Given the description of an element on the screen output the (x, y) to click on. 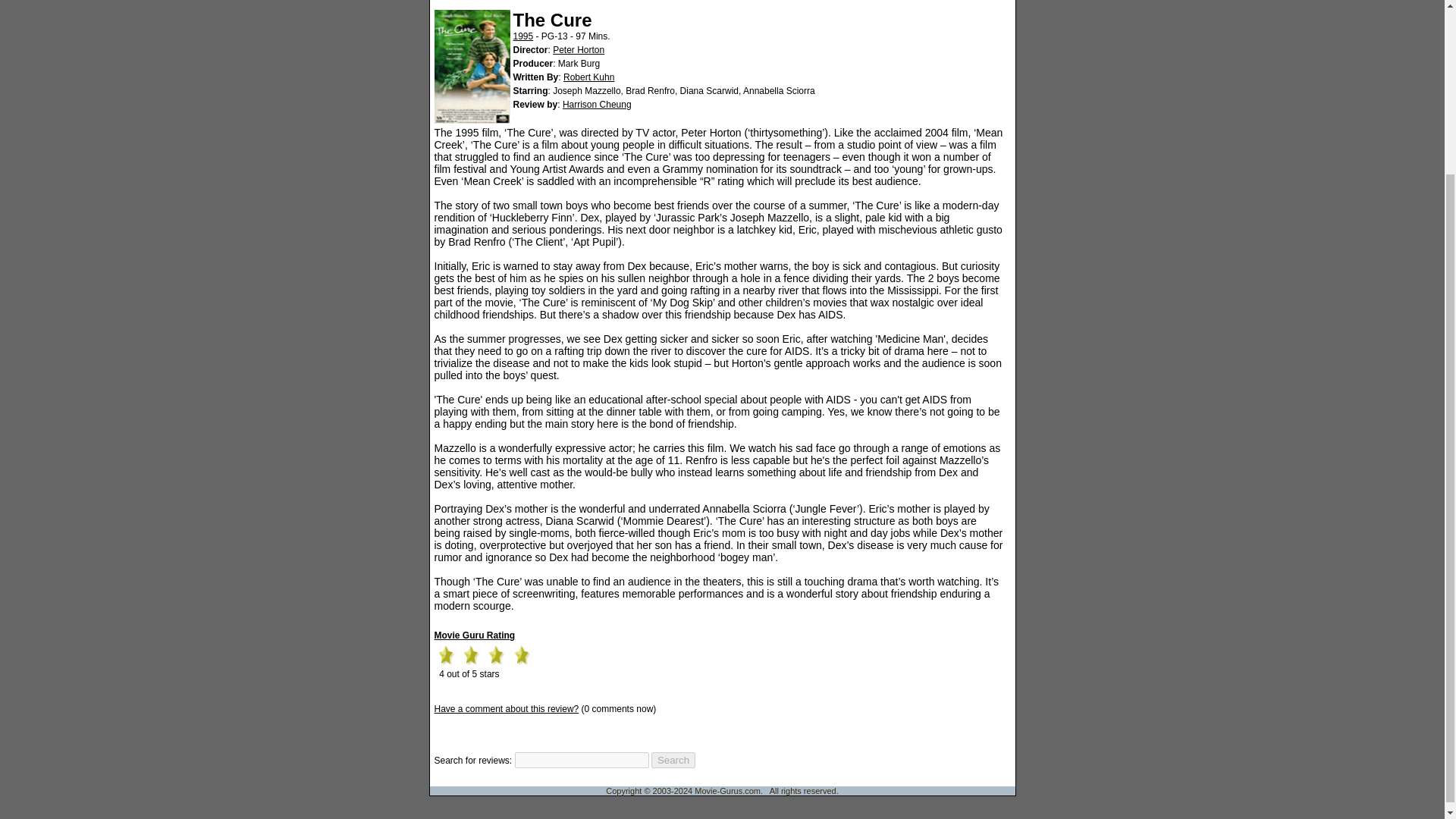
Search (672, 760)
